Given the description of an element on the screen output the (x, y) to click on. 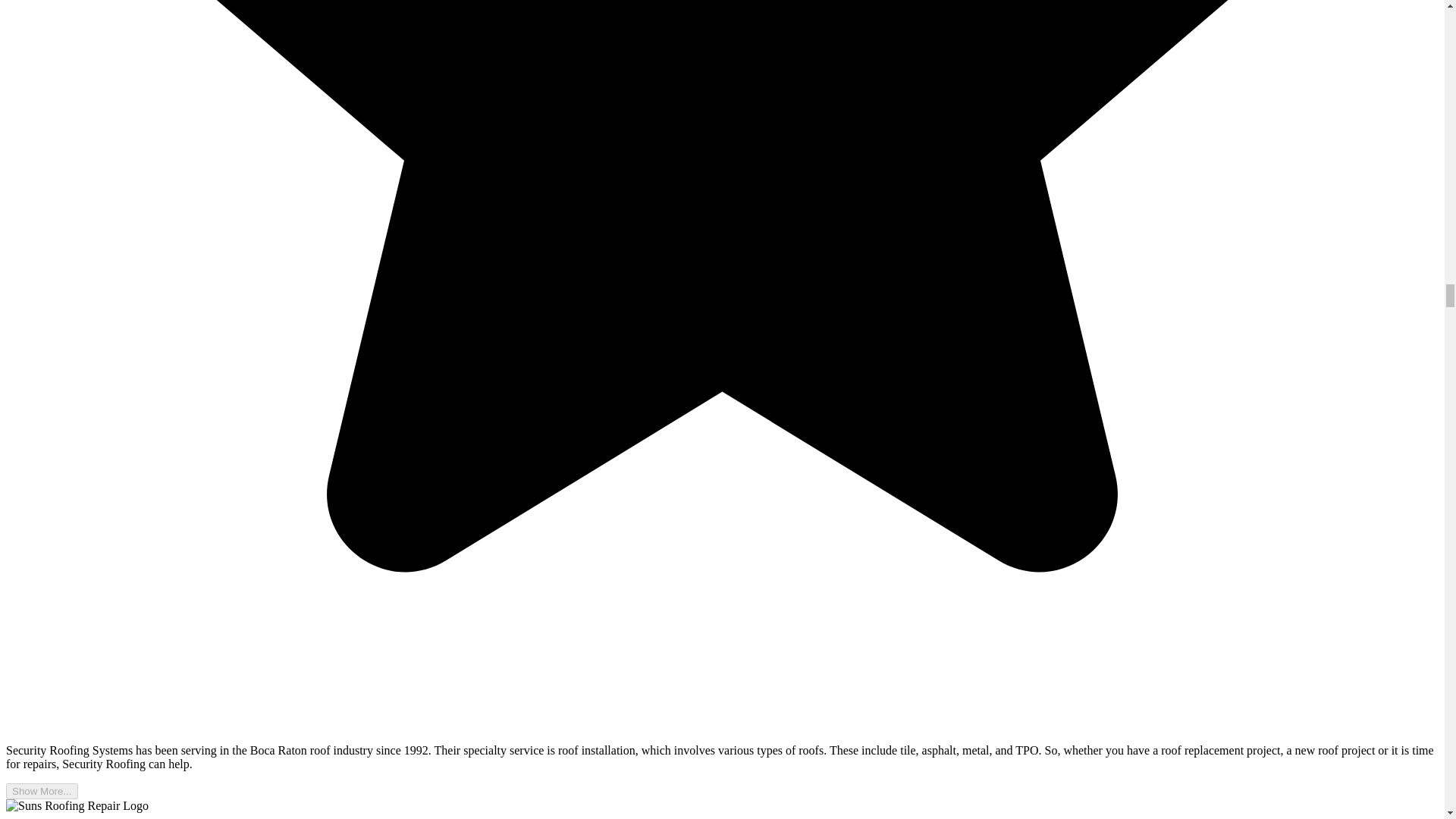
Show More... (41, 790)
